Given the description of an element on the screen output the (x, y) to click on. 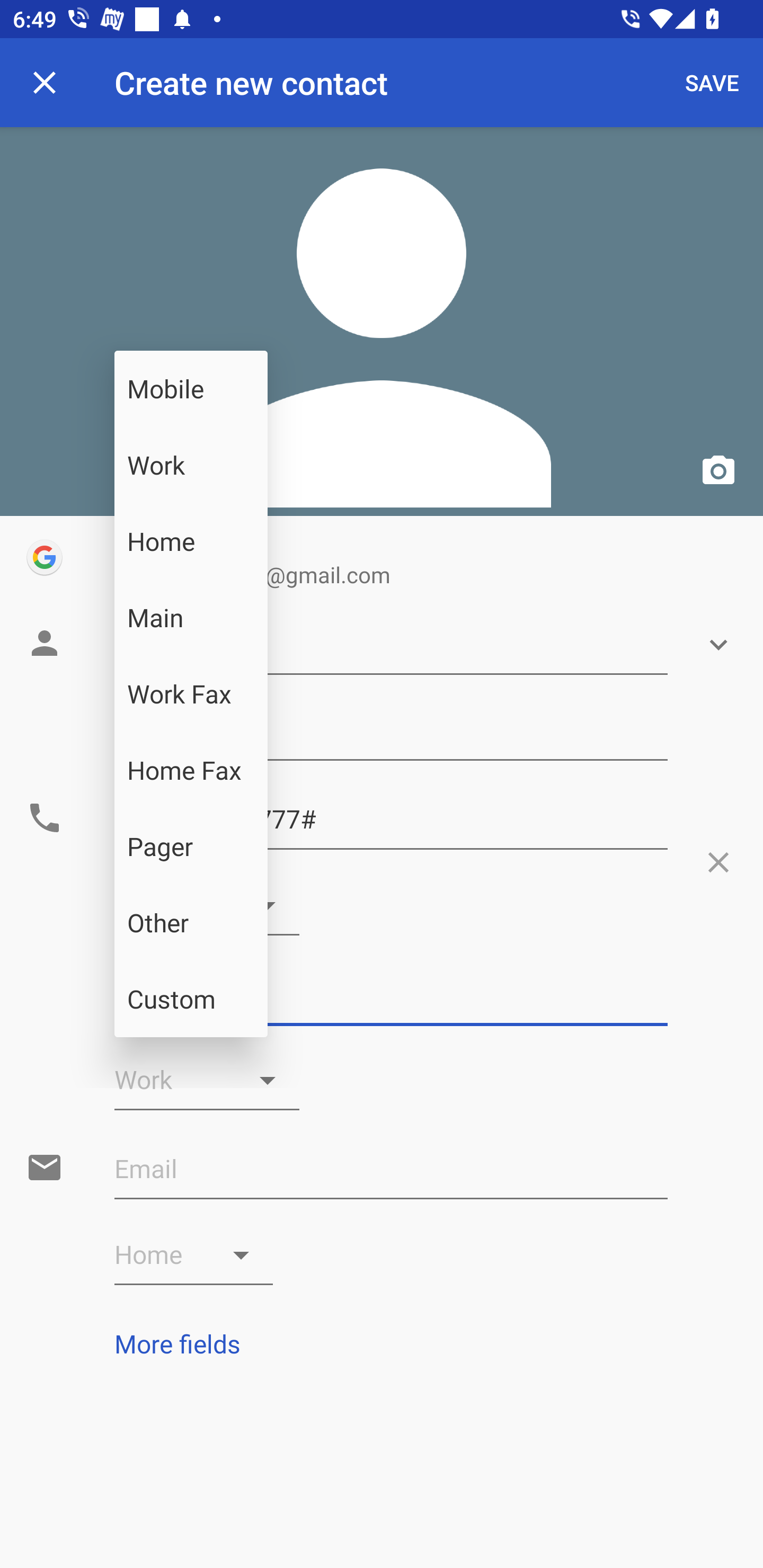
Mobile (190, 388)
Work (190, 464)
Home (190, 541)
Main (190, 617)
Work Fax (190, 693)
Home Fax (190, 770)
Pager (190, 846)
Other (190, 922)
Custom (190, 998)
